Given the description of an element on the screen output the (x, y) to click on. 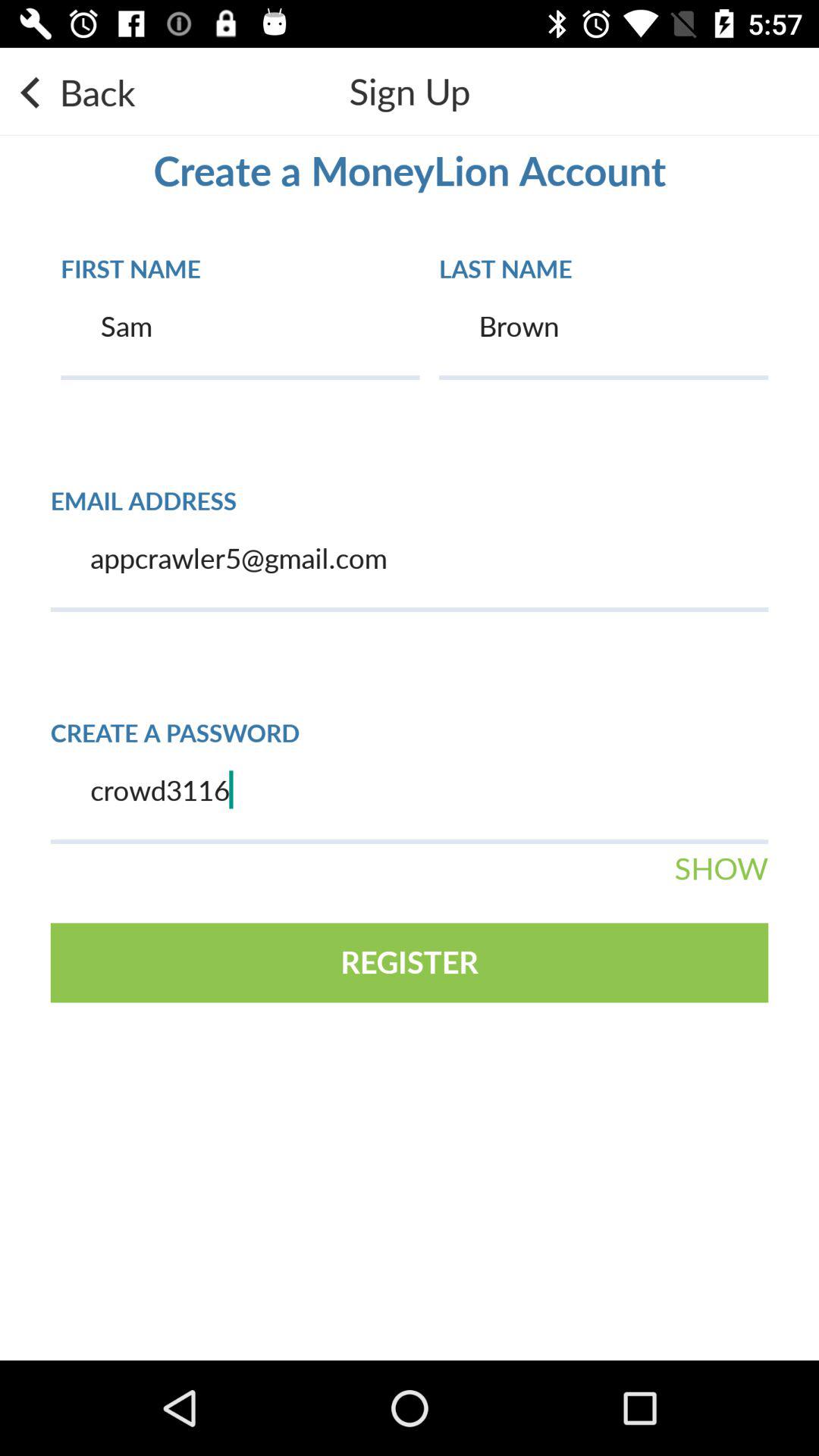
click on the text below first name (240, 336)
